Given the description of an element on the screen output the (x, y) to click on. 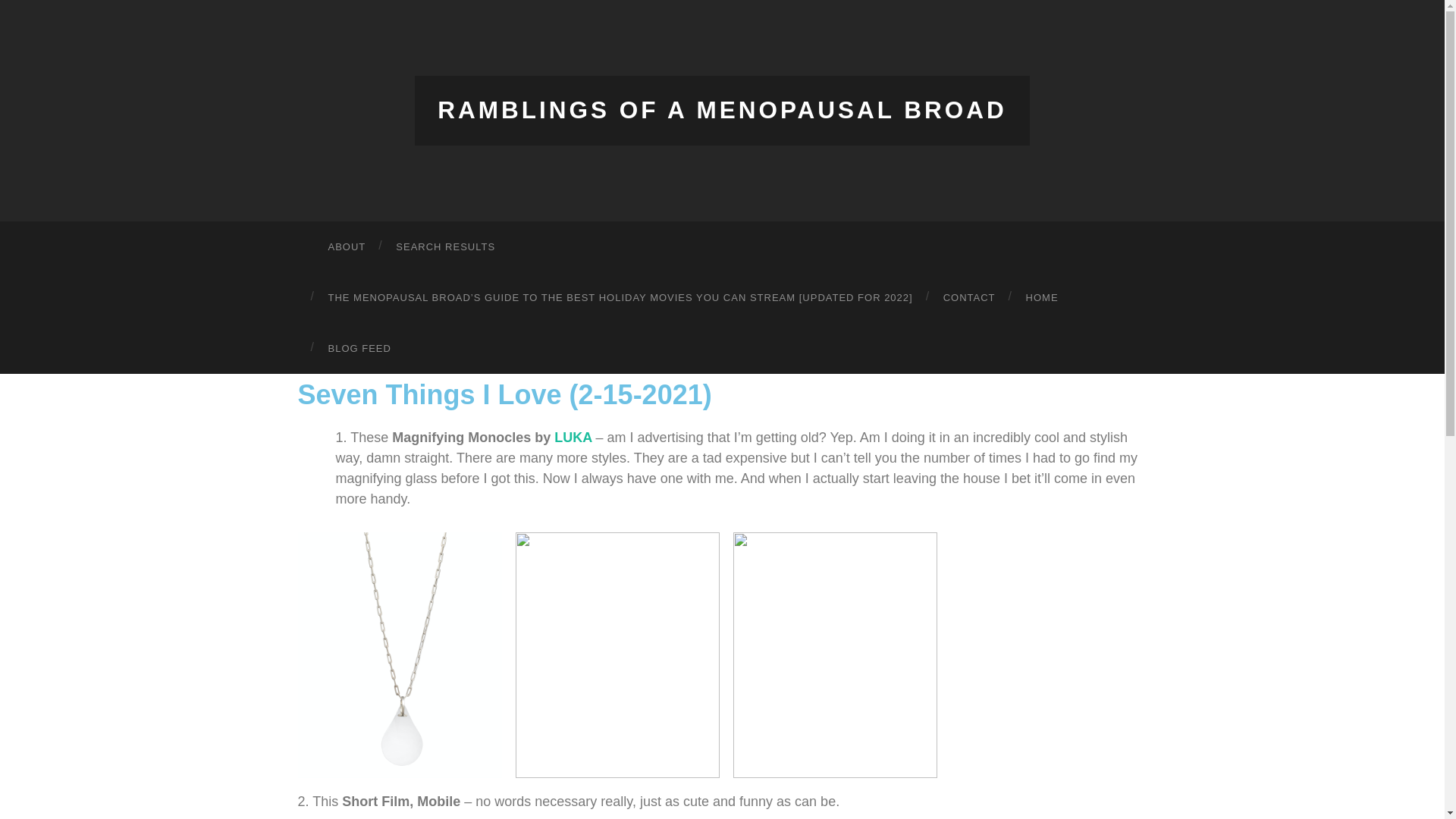
RAMBLINGS OF A MENOPAUSAL BROAD (722, 109)
SEARCH RESULTS (445, 246)
BLOG FEED (359, 347)
CONTACT (969, 296)
LUKA (572, 436)
ABOUT (346, 246)
HOME (1042, 296)
